Given the description of an element on the screen output the (x, y) to click on. 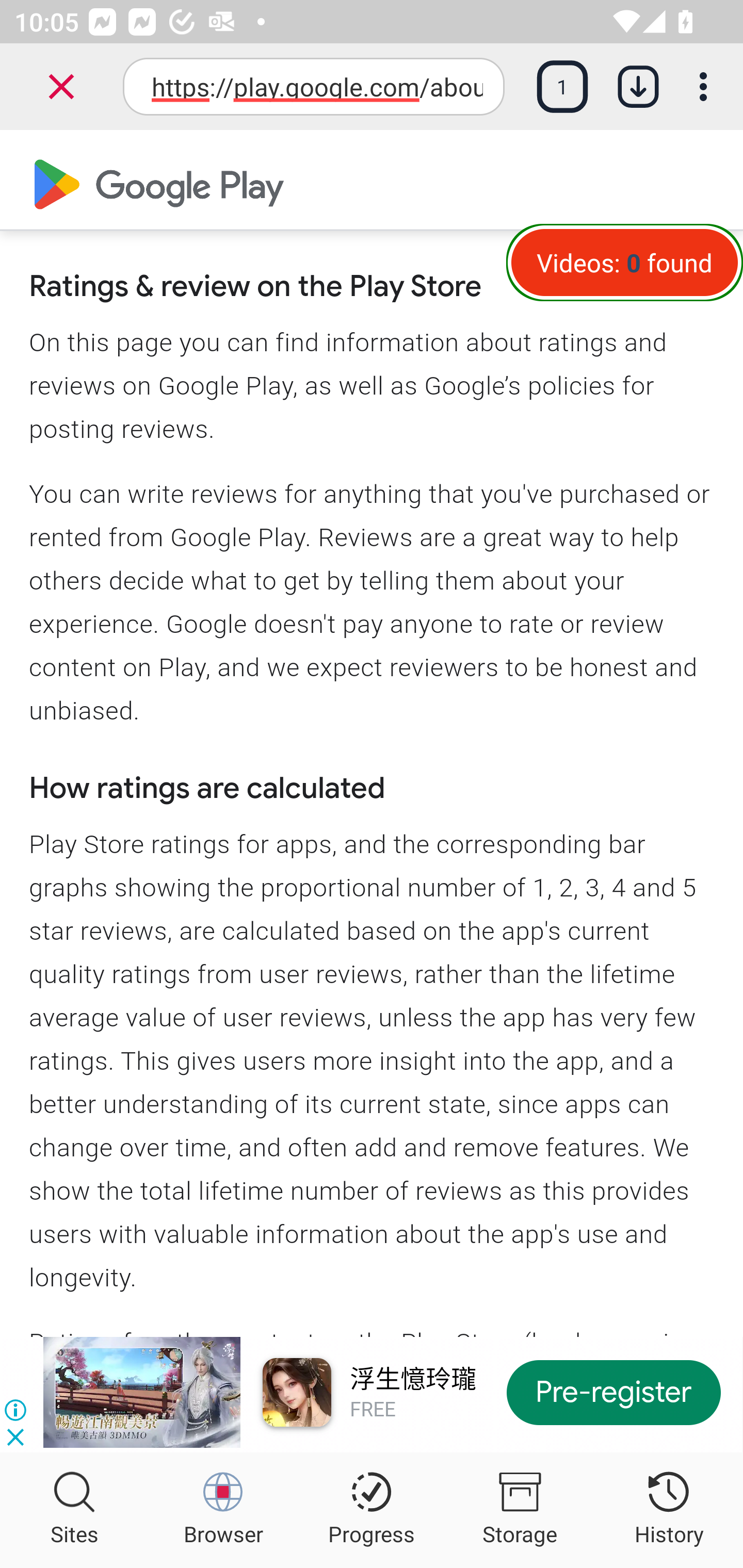
1 (562, 87)
Google Play (158, 181)
Videos: 0 found (624, 262)
Pre-register (613, 1391)
浮生憶玲瓏 (412, 1379)
FREE (372, 1409)
Sites (74, 1509)
Browser (222, 1509)
Progress (371, 1509)
Storage (519, 1509)
History (668, 1509)
